Given the description of an element on the screen output the (x, y) to click on. 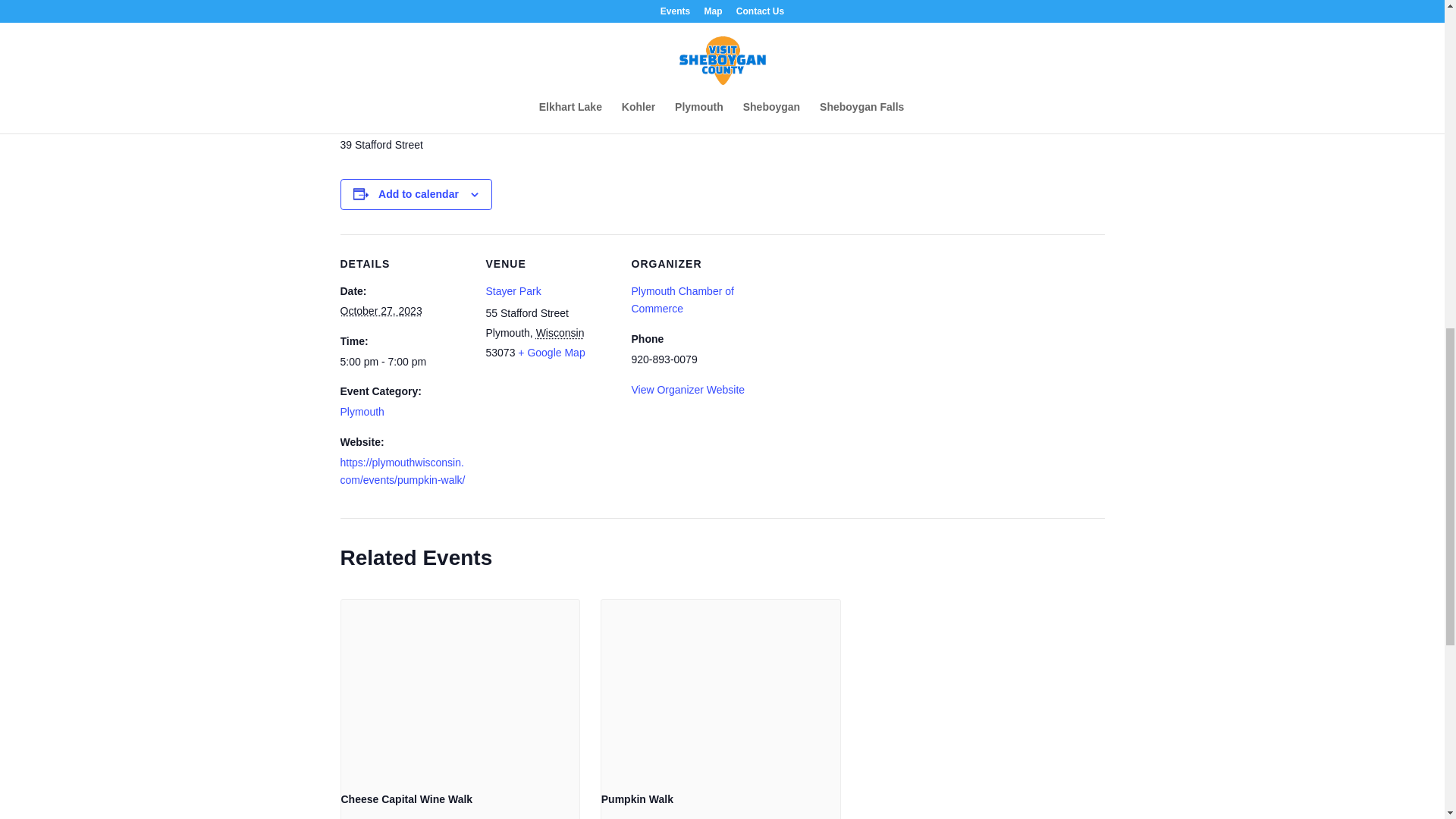
Click to view a Google Map (551, 352)
Plymouth Chamber of Commerce (681, 300)
Pumpkin Walk (636, 799)
Wisconsin (560, 332)
Plymouth Chamber of Commerce (681, 300)
2023-10-27 (403, 361)
Add to calendar (418, 193)
Stayer Park (512, 291)
View Organizer Website (687, 389)
Plymouth (361, 411)
2023-10-27 (380, 310)
Cheese Capital Wine Walk (406, 799)
